Given the description of an element on the screen output the (x, y) to click on. 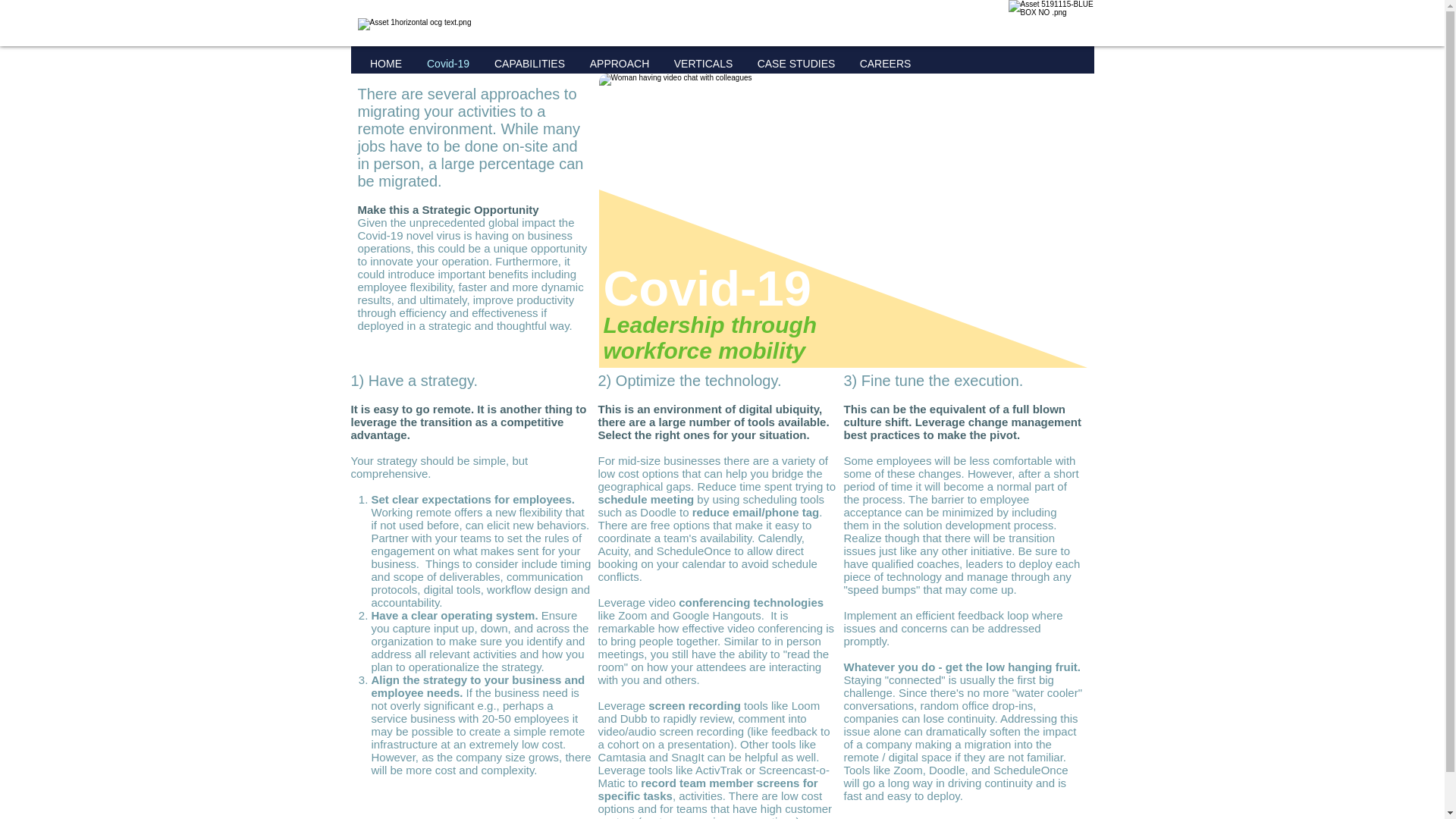
APPROACH (620, 63)
CAREERS (885, 63)
VERTICALS (702, 63)
CAPABILITIES (529, 63)
CASE STUDIES (795, 63)
